Given the description of an element on the screen output the (x, y) to click on. 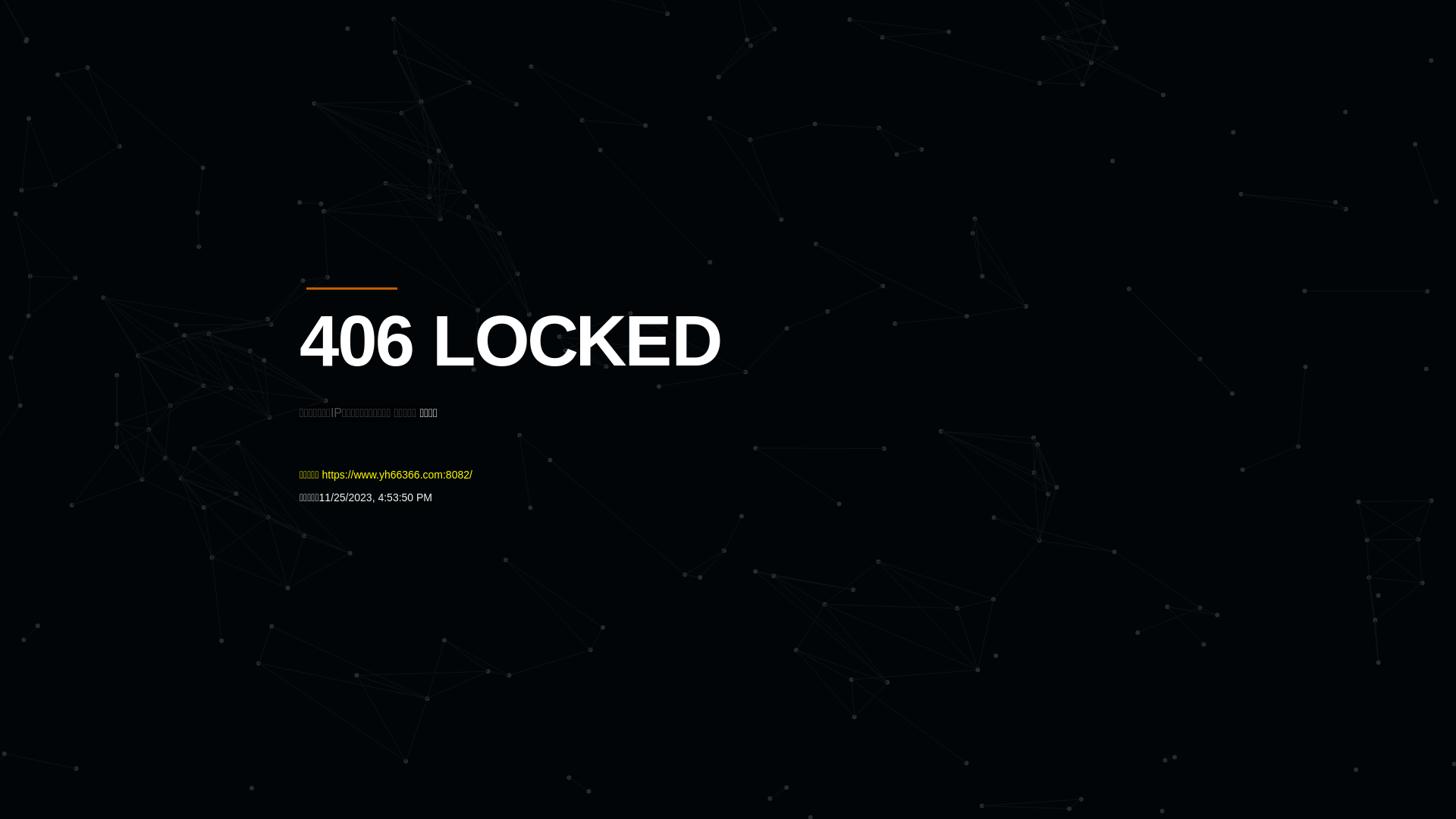
Quatro Element type: text (410, 86)
